Given the description of an element on the screen output the (x, y) to click on. 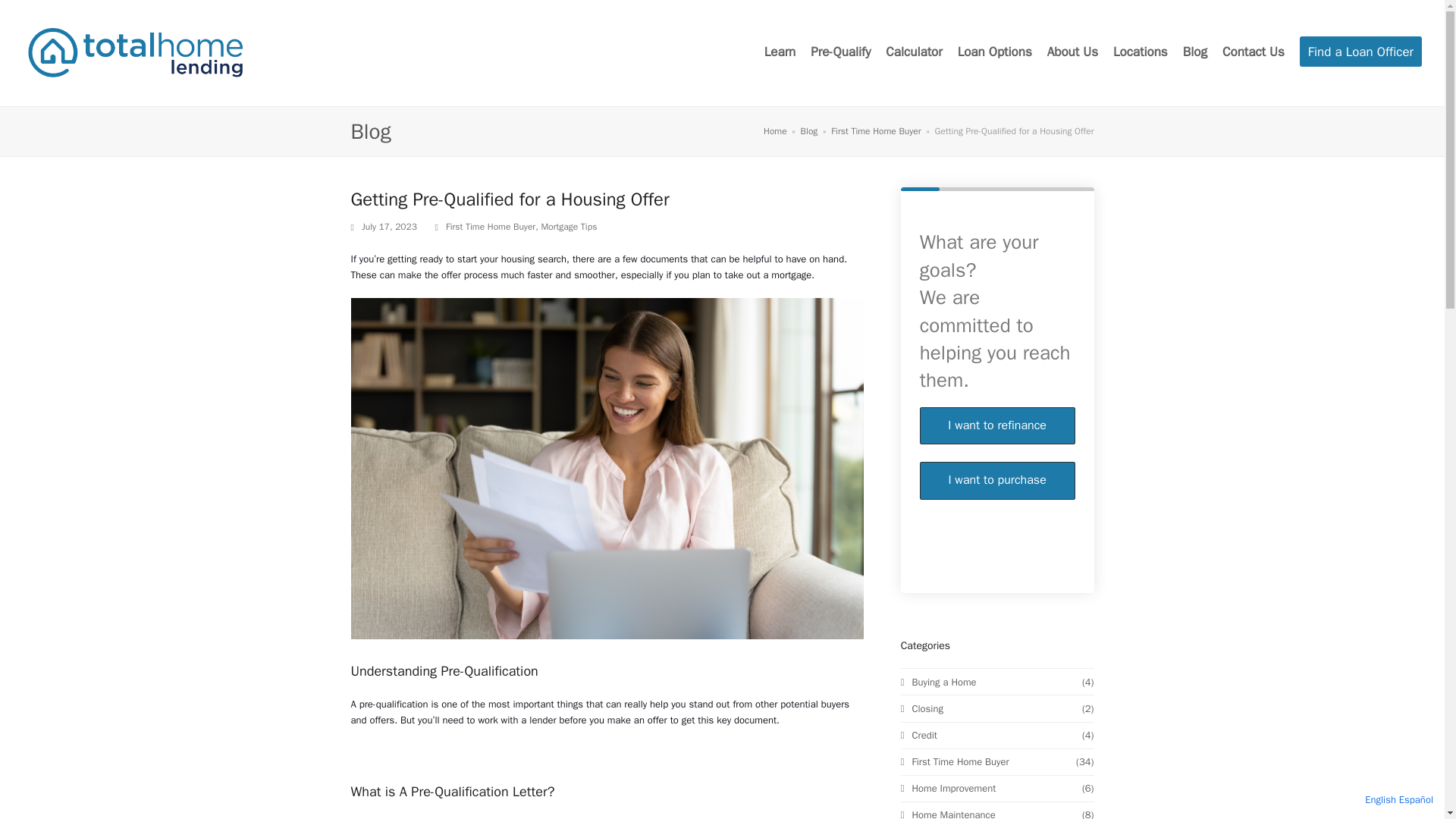
Loan Options (995, 53)
First Time Home Buyer (955, 333)
Home Maintenance (948, 386)
Buying a Home (938, 253)
First Time Home Buyer (490, 226)
Calculator (913, 53)
About Us (1071, 53)
Loan Options (995, 53)
Pre-Qualify (840, 53)
Contact Us (1253, 53)
First Time Home Buyer (875, 131)
Mortgage Tips (568, 226)
Credit (919, 306)
Find a Loan Officer (1361, 53)
Locations (1140, 53)
